Given the description of an element on the screen output the (x, y) to click on. 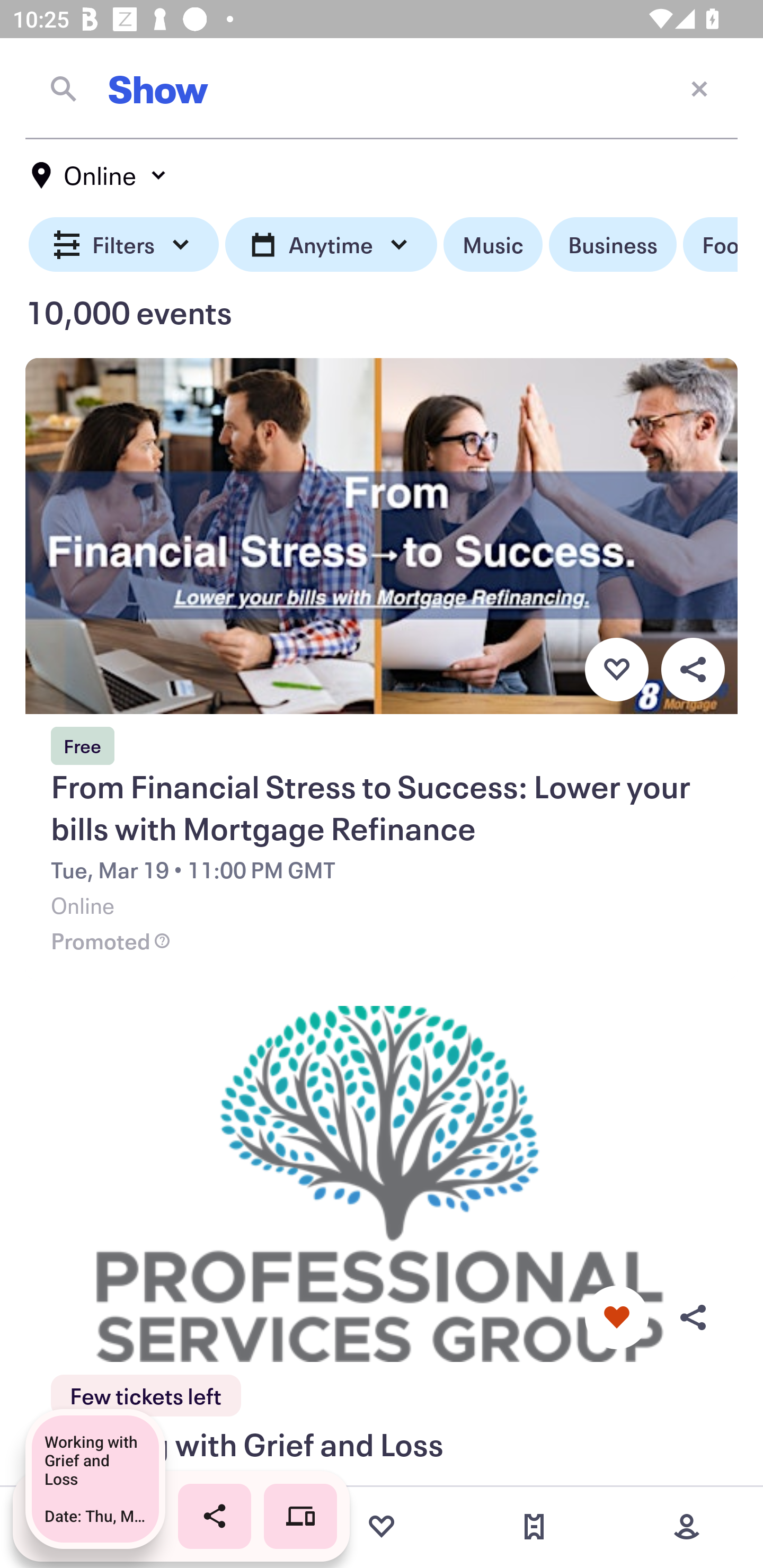
Show Close current screen (381, 88)
Close current screen (699, 88)
Online (99, 175)
Filters (123, 244)
Anytime (331, 244)
Music (492, 244)
Business (612, 244)
Favorite button (616, 669)
Overflow menu button (692, 669)
Favorite button (616, 1317)
Overflow menu button (692, 1317)
Favorites (381, 1526)
Tickets (533, 1526)
More (686, 1526)
